Given the description of an element on the screen output the (x, y) to click on. 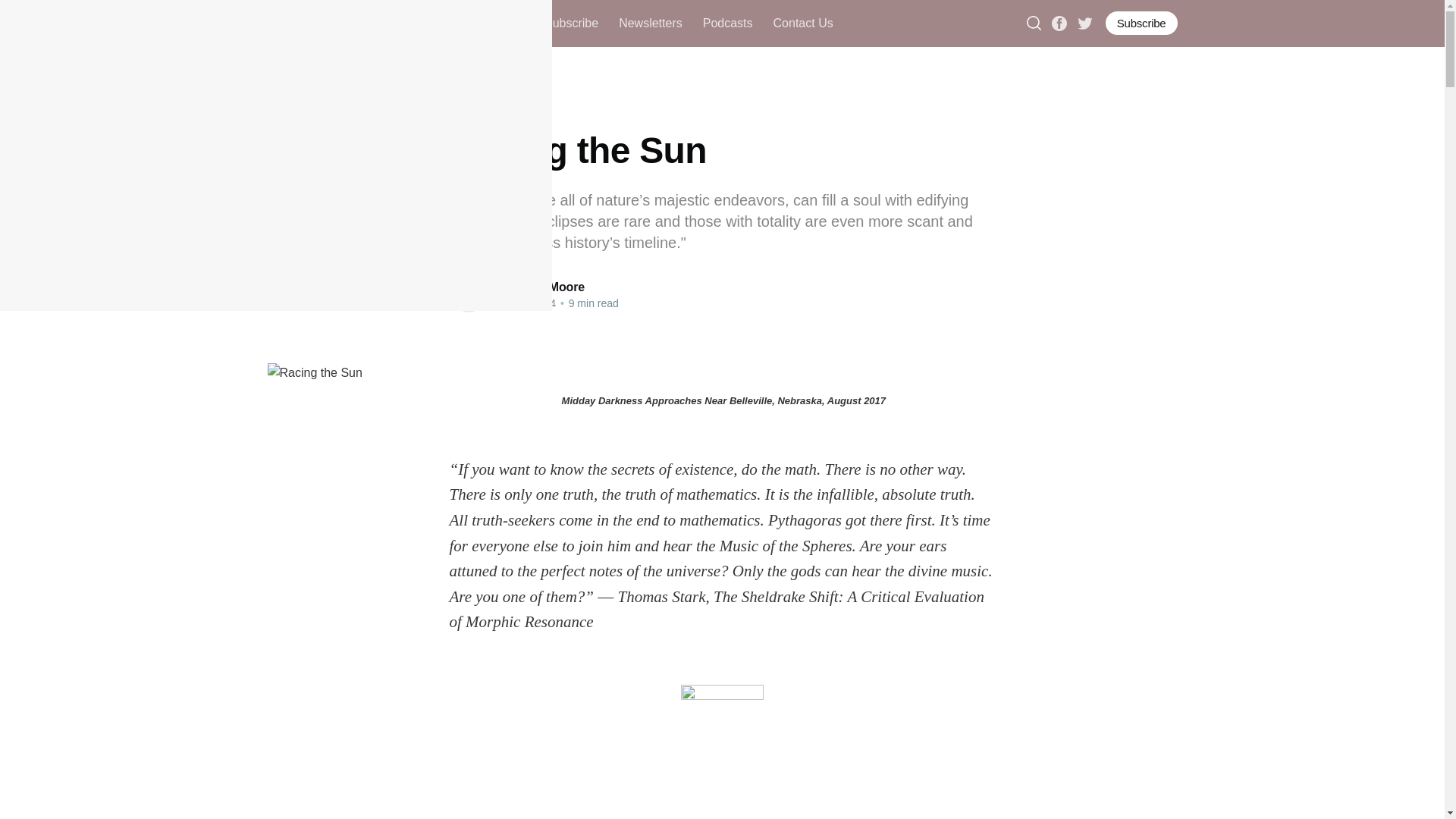
NATURAL WORLD (493, 119)
Contact Us (802, 22)
Subscribe (571, 22)
Subscribe (1141, 23)
Facebook (1059, 21)
Newsletters (650, 22)
Twitter (1085, 21)
Podcasts (727, 22)
James C. Moore (538, 286)
Home (455, 22)
About (508, 22)
